Given the description of an element on the screen output the (x, y) to click on. 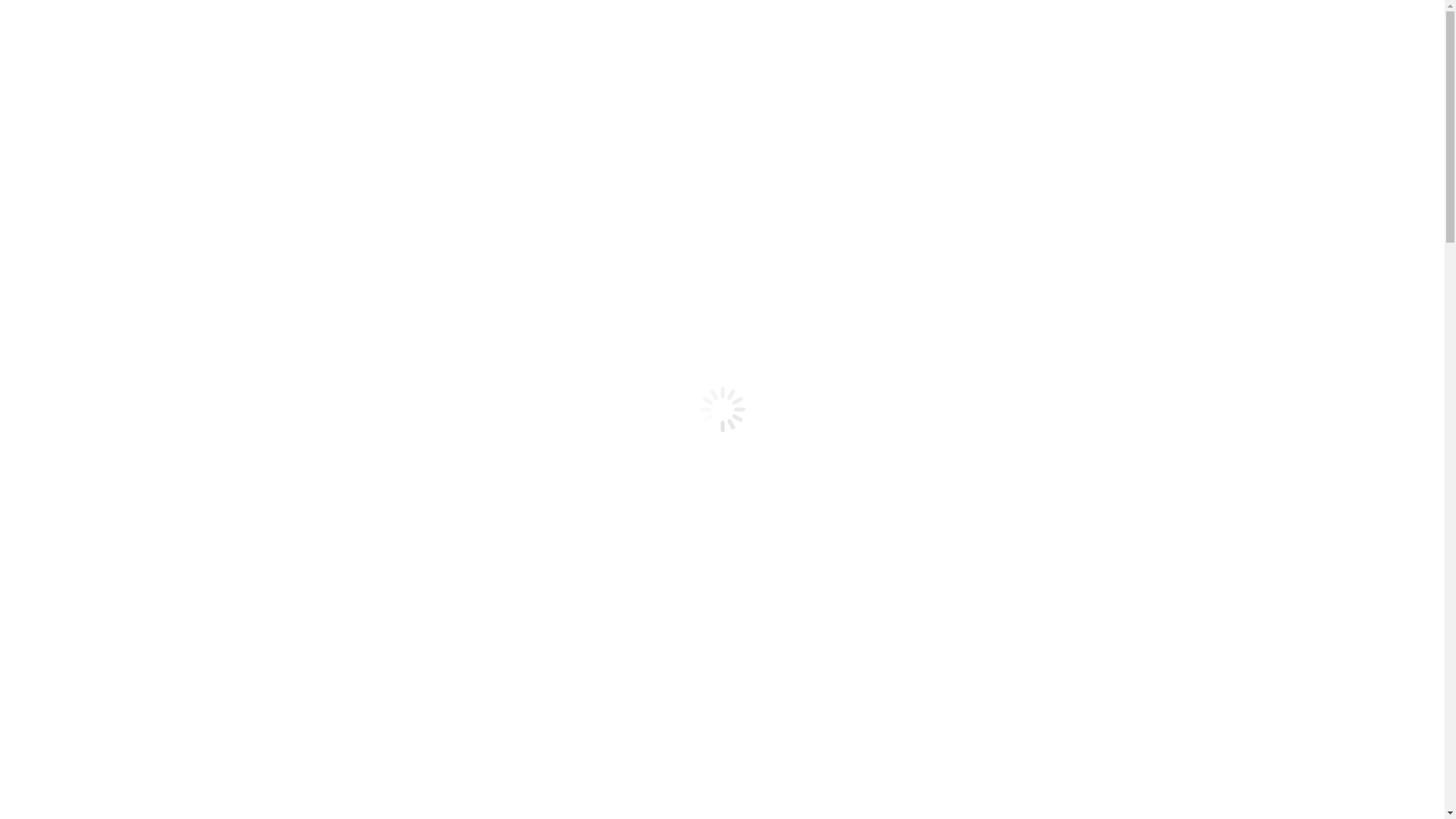
ABOUT US Element type: text (883, 37)
ODOO ERP Element type: text (701, 37)
BLOGS Element type: text (957, 37)
HOME Element type: text (624, 37)
CONTACT Element type: text (1030, 37)
1300 069 013 Element type: text (1154, 37)
SERVICES Element type: text (795, 37)
